Given the description of an element on the screen output the (x, y) to click on. 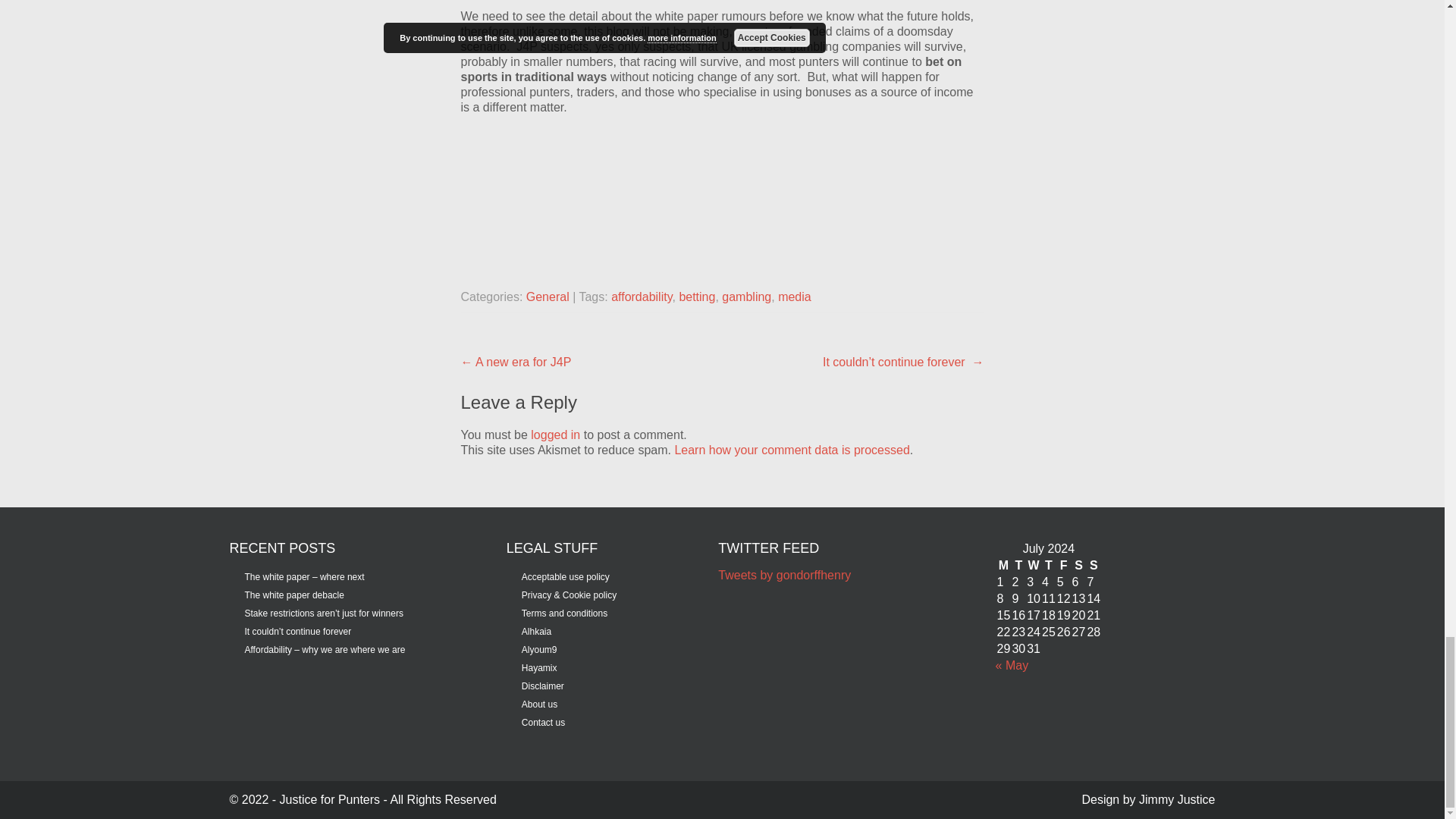
Alhkaia (528, 631)
gambling (746, 296)
View all posts in General (547, 296)
logged in (555, 434)
Tuesday (1018, 565)
Alyoum9 (531, 649)
Learn how your comment data is processed (791, 449)
General (547, 296)
Monday (1003, 565)
Acceptable use policy (558, 576)
Saturday (1078, 565)
Terms and conditions (556, 613)
betting (696, 296)
Thursday (1048, 565)
media (793, 296)
